Given the description of an element on the screen output the (x, y) to click on. 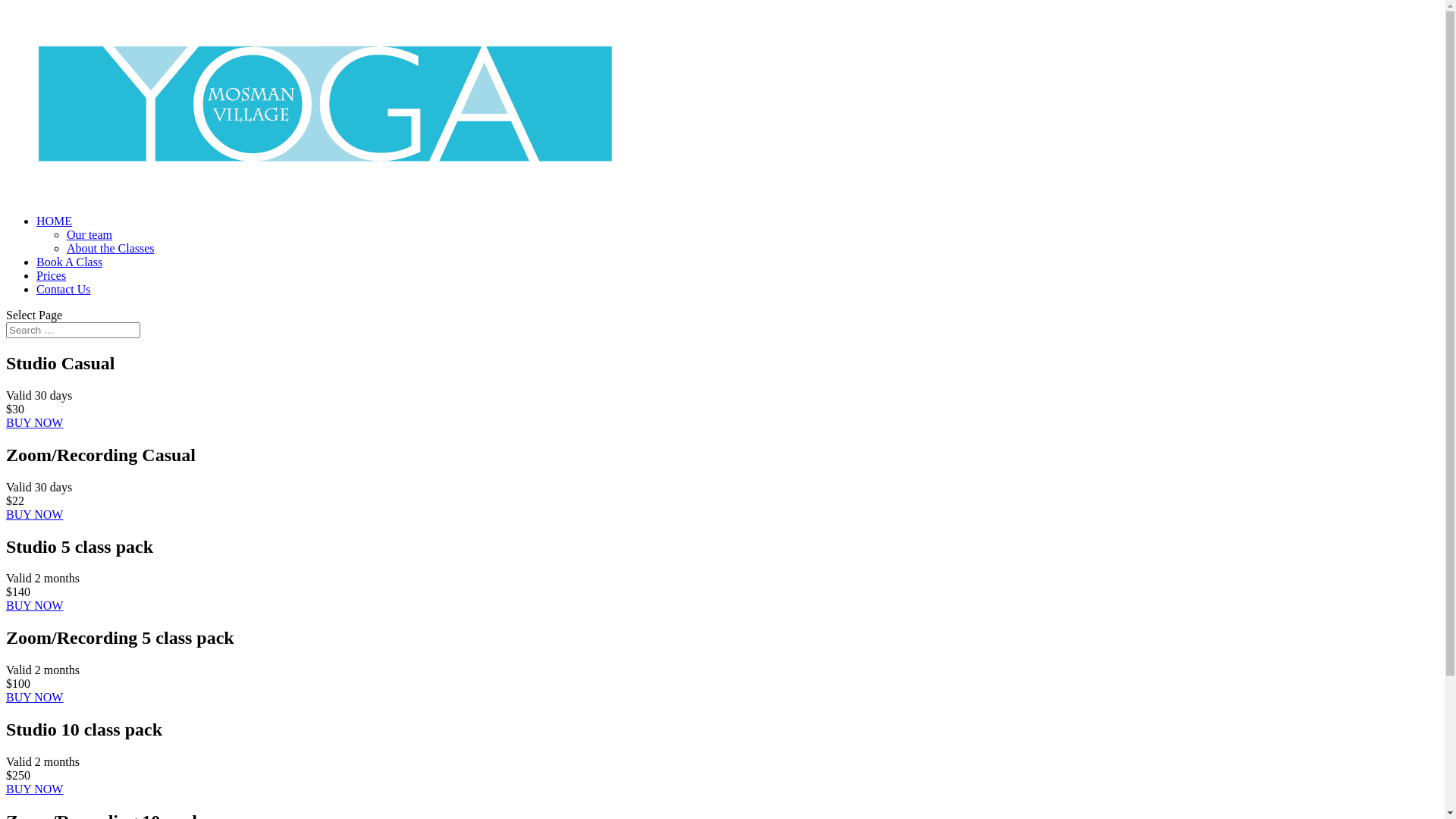
BUY NOW Element type: text (34, 696)
Search for: Element type: hover (73, 330)
BUY NOW Element type: text (34, 514)
BUY NOW Element type: text (34, 788)
Book A Class Element type: text (69, 261)
HOME Element type: text (54, 220)
Our team Element type: text (89, 234)
BUY NOW Element type: text (34, 422)
BUY NOW Element type: text (34, 605)
Prices Element type: text (50, 275)
Contact Us Element type: text (63, 288)
About the Classes Element type: text (110, 247)
